Given the description of an element on the screen output the (x, y) to click on. 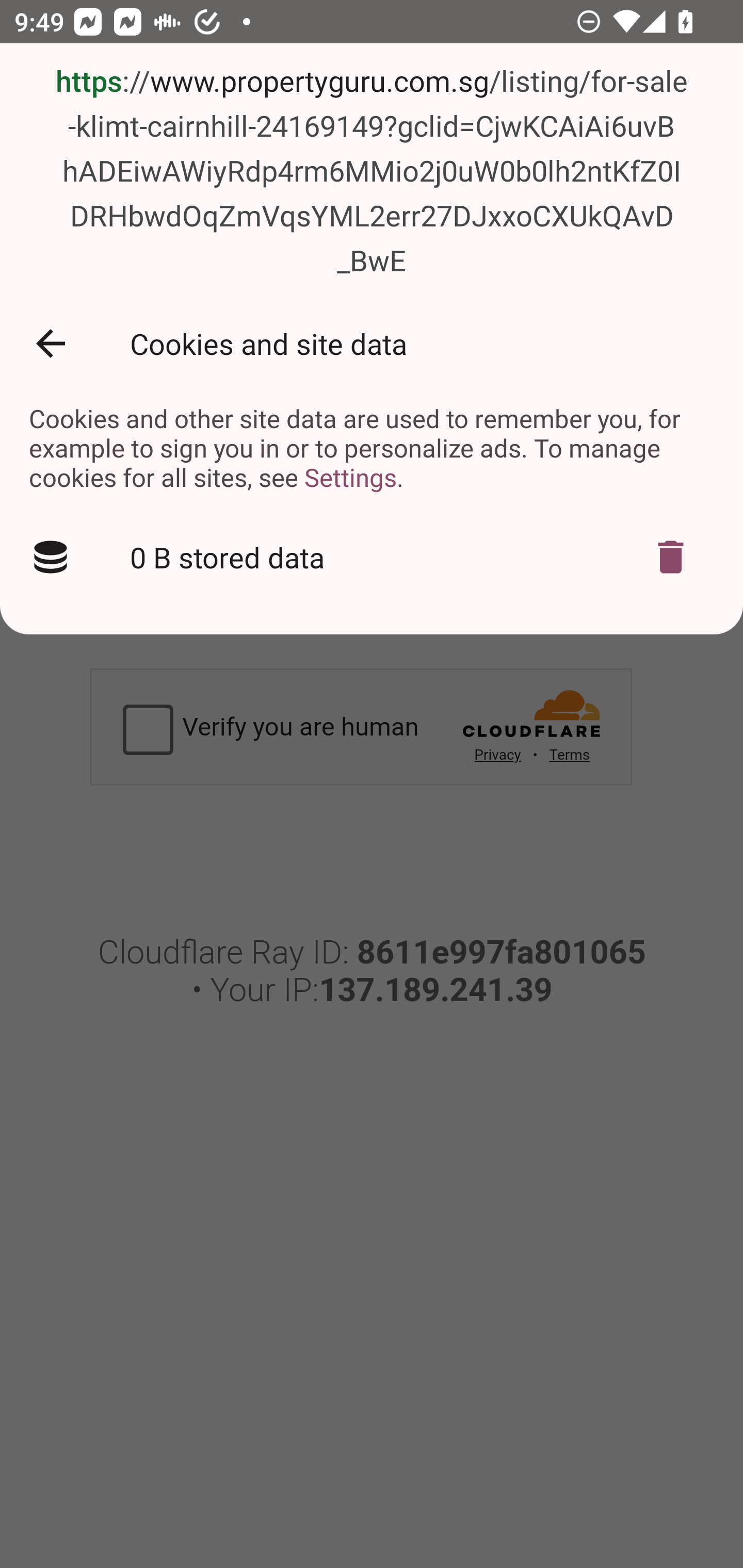
Back (50, 343)
0 B stored data Delete cookies? (371, 556)
